Given the description of an element on the screen output the (x, y) to click on. 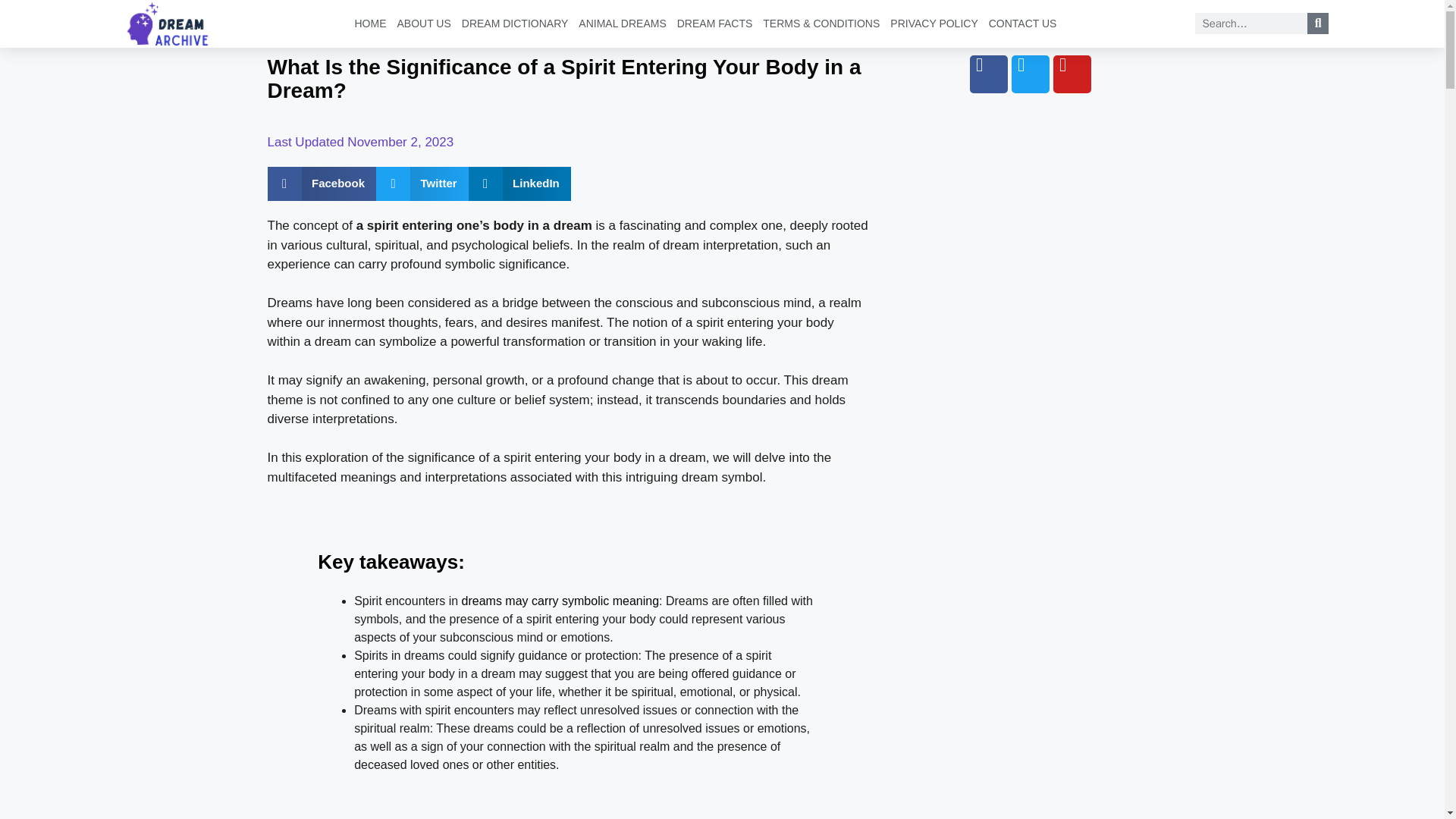
Search (1317, 23)
DREAM DICTIONARY (515, 26)
dreams may carry symbolic meaning (560, 600)
Last Updated November 2, 2023 (359, 142)
DREAM FACTS (714, 26)
ABOUT US (423, 26)
PRIVACY POLICY (933, 26)
Search (1251, 23)
CONTACT US (1023, 26)
ANIMAL DREAMS (622, 26)
